Given the description of an element on the screen output the (x, y) to click on. 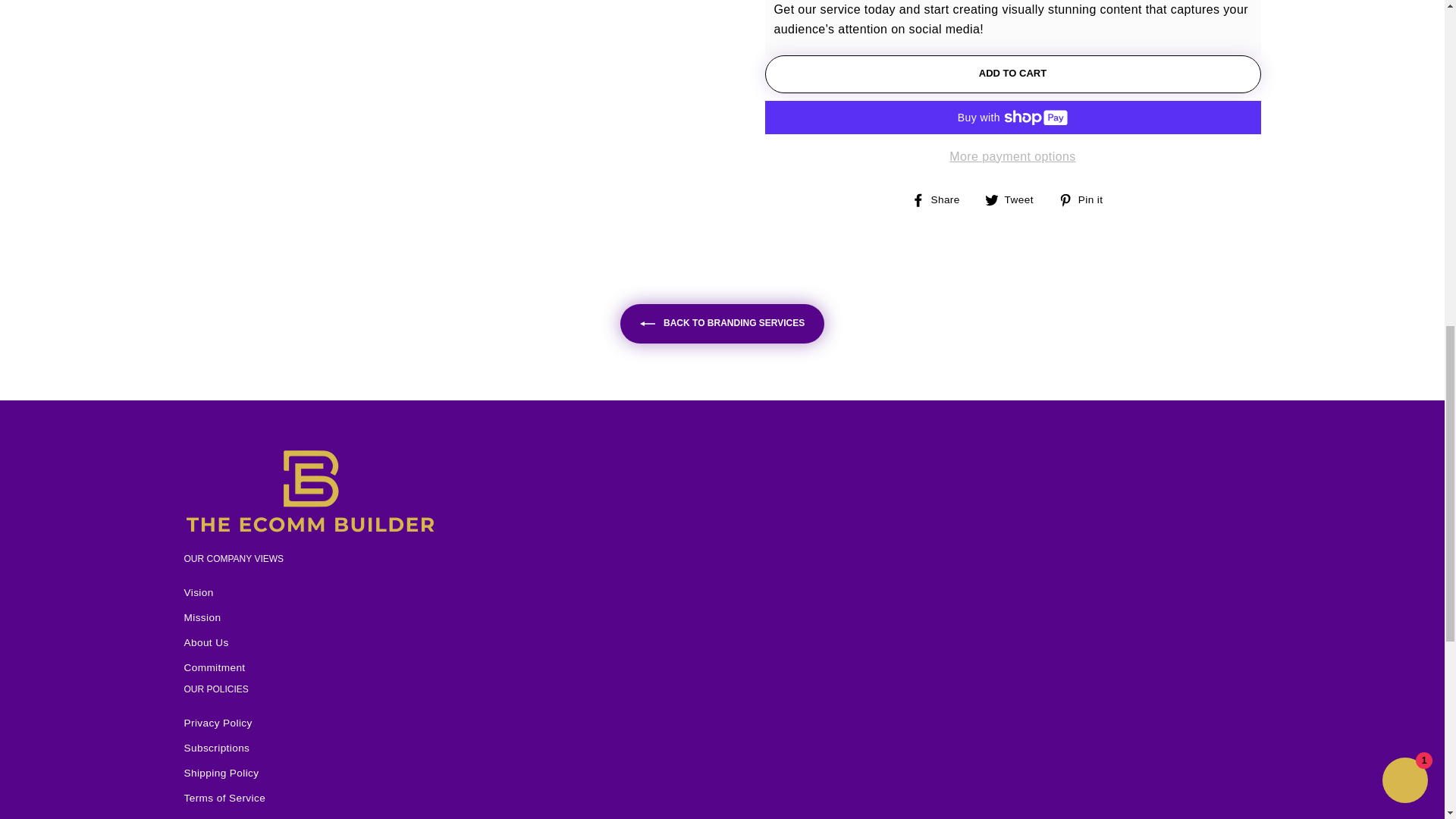
Tweet on Twitter (1015, 199)
Share on Facebook (941, 199)
Pin on Pinterest (1085, 199)
